Given the description of an element on the screen output the (x, y) to click on. 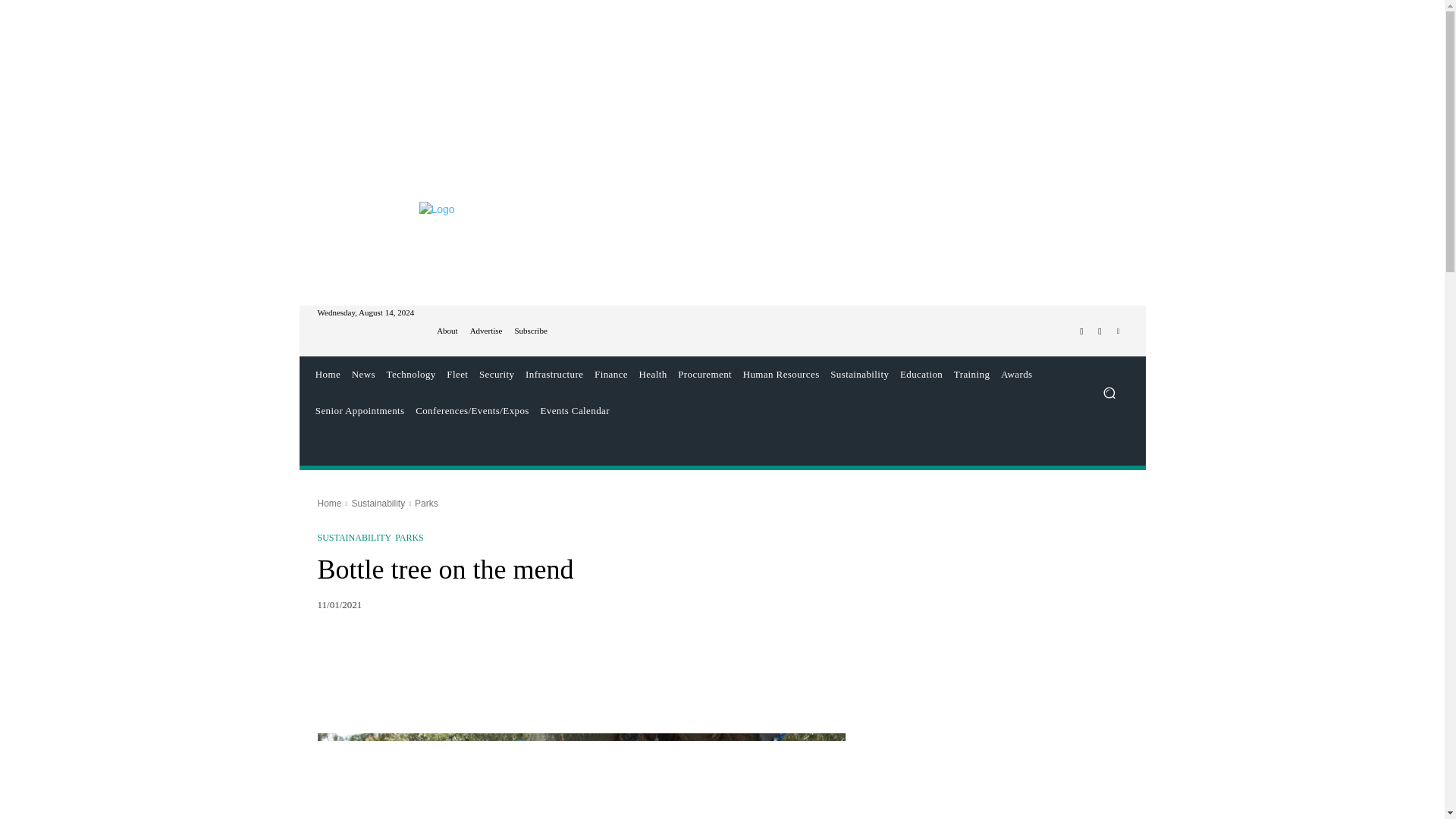
Twitter (1099, 331)
View all posts in Parks (426, 502)
Facebook (1080, 331)
Linkedin (1117, 331)
Home (327, 374)
Advertise (486, 330)
View all posts in Sustainability (377, 502)
Subscribe (530, 330)
News (363, 374)
